Given the description of an element on the screen output the (x, y) to click on. 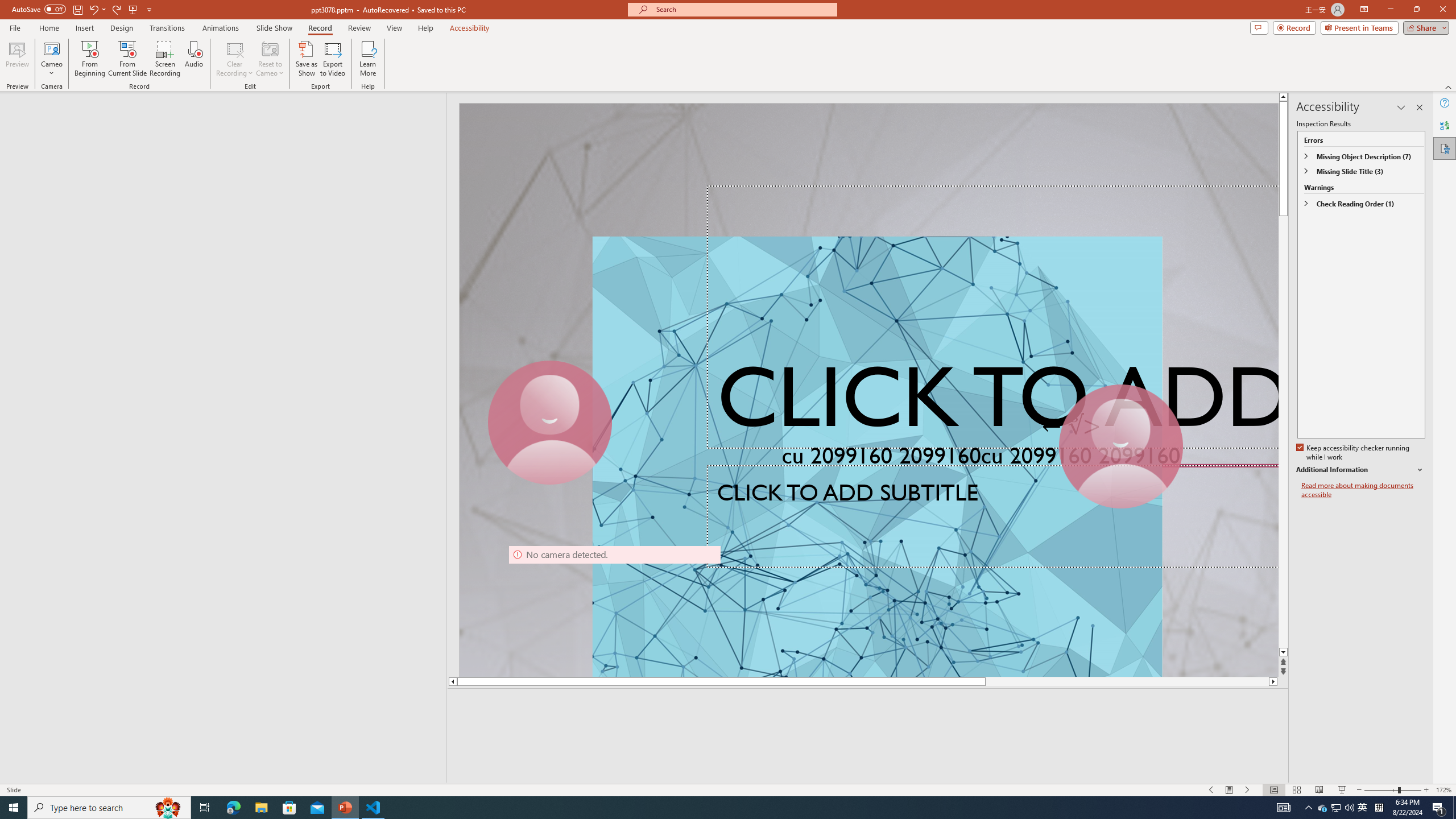
Save as Show (306, 58)
Slide Show Previous On (1211, 790)
From Beginning... (89, 58)
Screen Recording (165, 58)
